Given the description of an element on the screen output the (x, y) to click on. 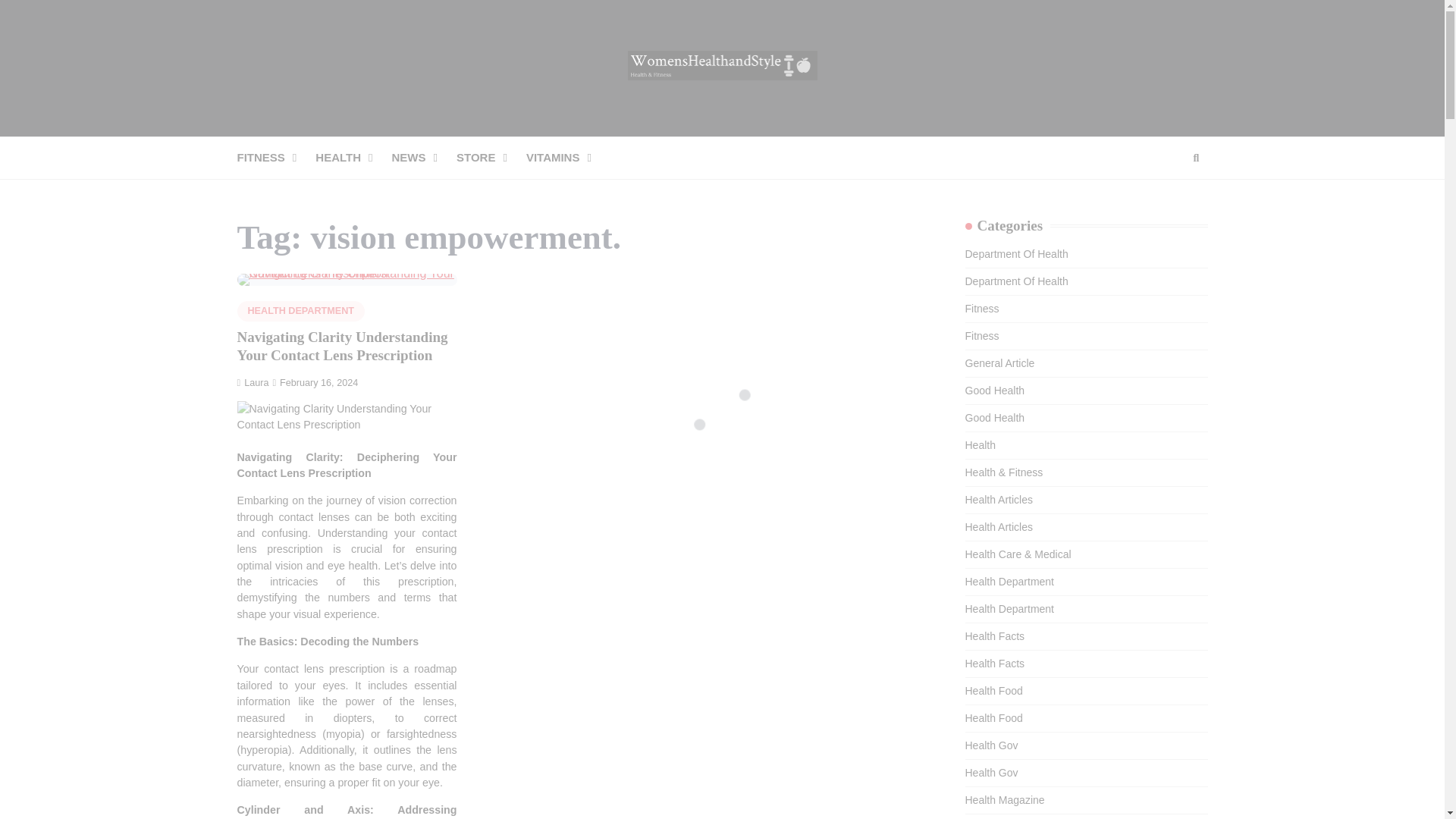
HEALTH DEPARTMENT (300, 311)
VITAMINS (567, 158)
NEWS (424, 158)
Fitness (980, 308)
STORE (491, 158)
February 16, 2024 (315, 382)
Department Of Health (1015, 281)
